Given the description of an element on the screen output the (x, y) to click on. 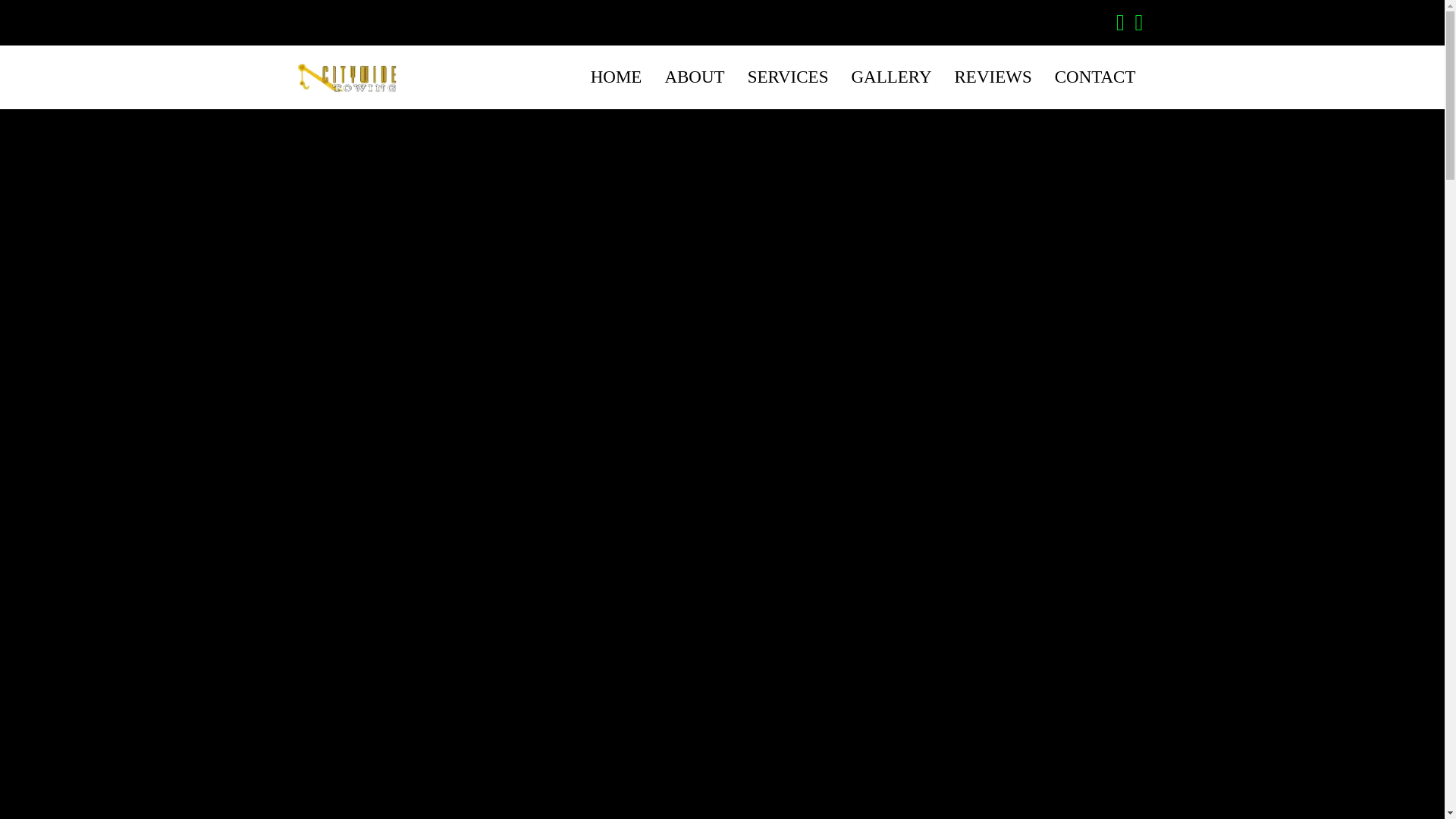
SERVICES (788, 77)
HOME (616, 77)
ABOUT (693, 77)
GALLERY (891, 77)
REVIEWS (993, 77)
CONTACT (1095, 77)
